Given the description of an element on the screen output the (x, y) to click on. 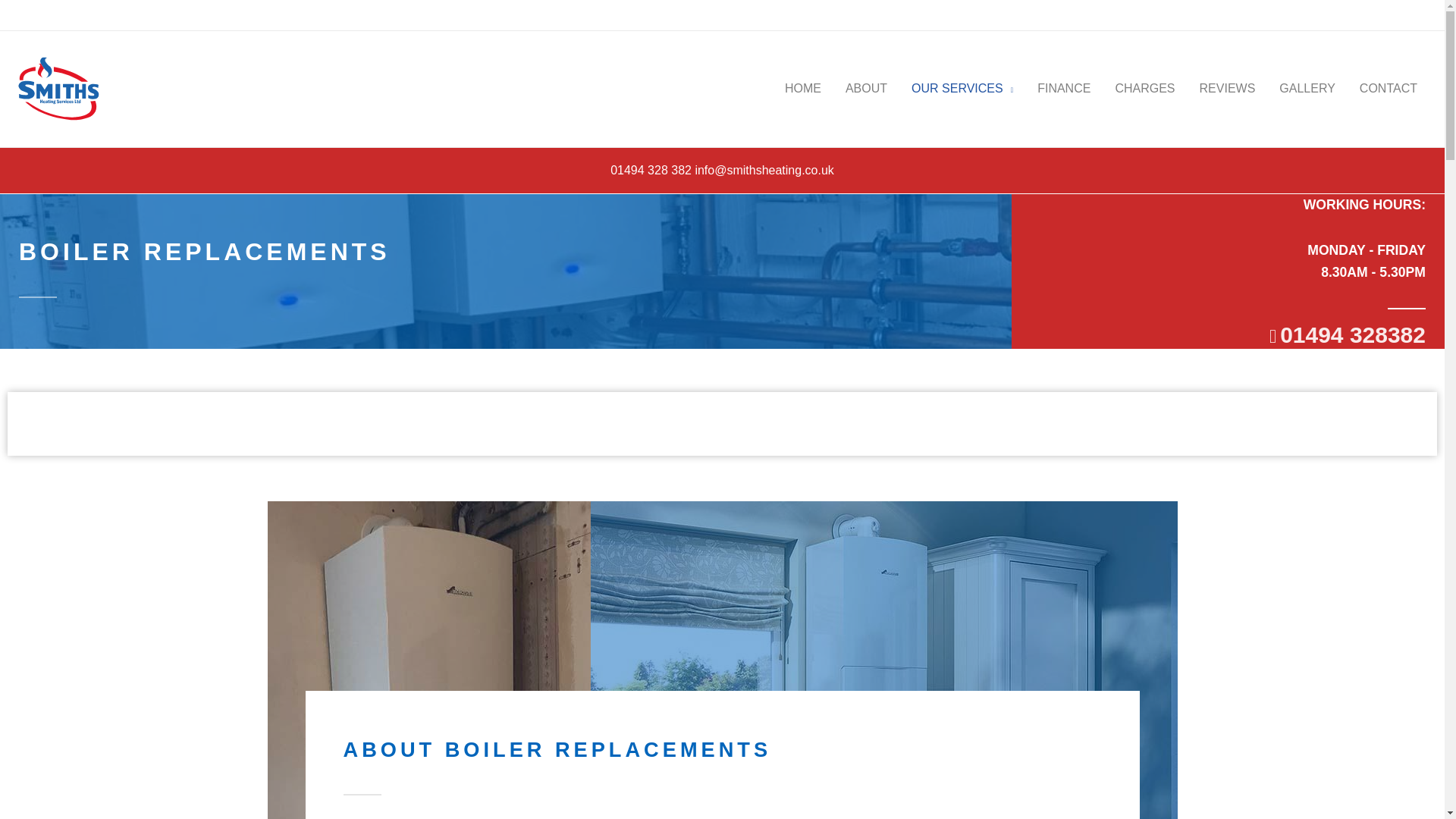
GALLERY (1307, 88)
OUR SERVICES (962, 88)
FINANCE (1063, 88)
CHARGES (1144, 88)
REVIEWS (1228, 88)
CONTACT (1388, 88)
ABOUT (865, 88)
